Given the description of an element on the screen output the (x, y) to click on. 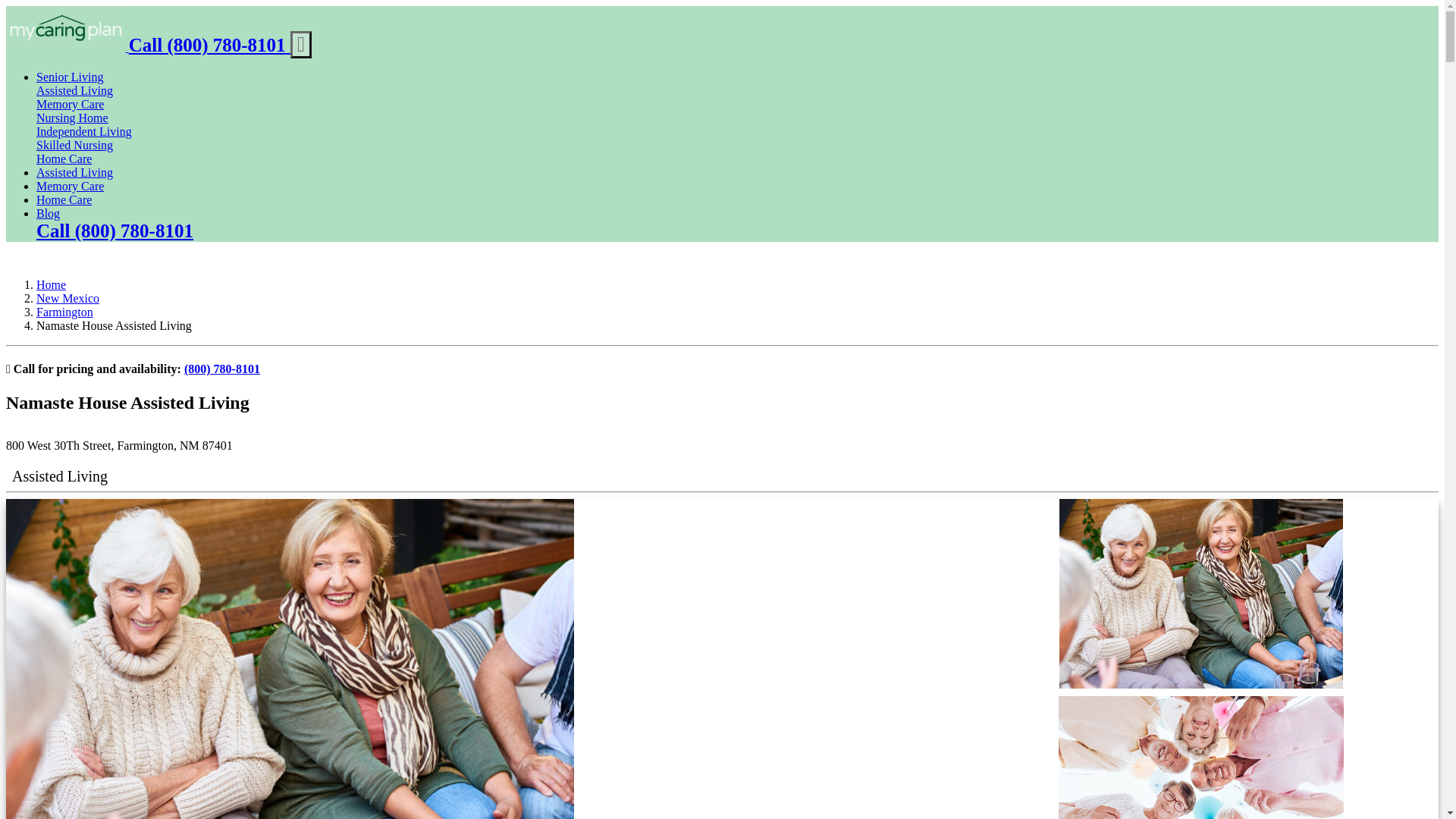
Assisted Living (74, 172)
Blog (47, 213)
Independent Living (84, 131)
Skilled Nursing (74, 144)
Senior Living (69, 76)
Home Care (63, 158)
Memory Care (69, 185)
Farmington (64, 311)
Home (50, 284)
Memory Care (69, 103)
Assisted Living (74, 90)
New Mexico (67, 297)
Home Care (63, 199)
Nursing Home (71, 117)
